Given the description of an element on the screen output the (x, y) to click on. 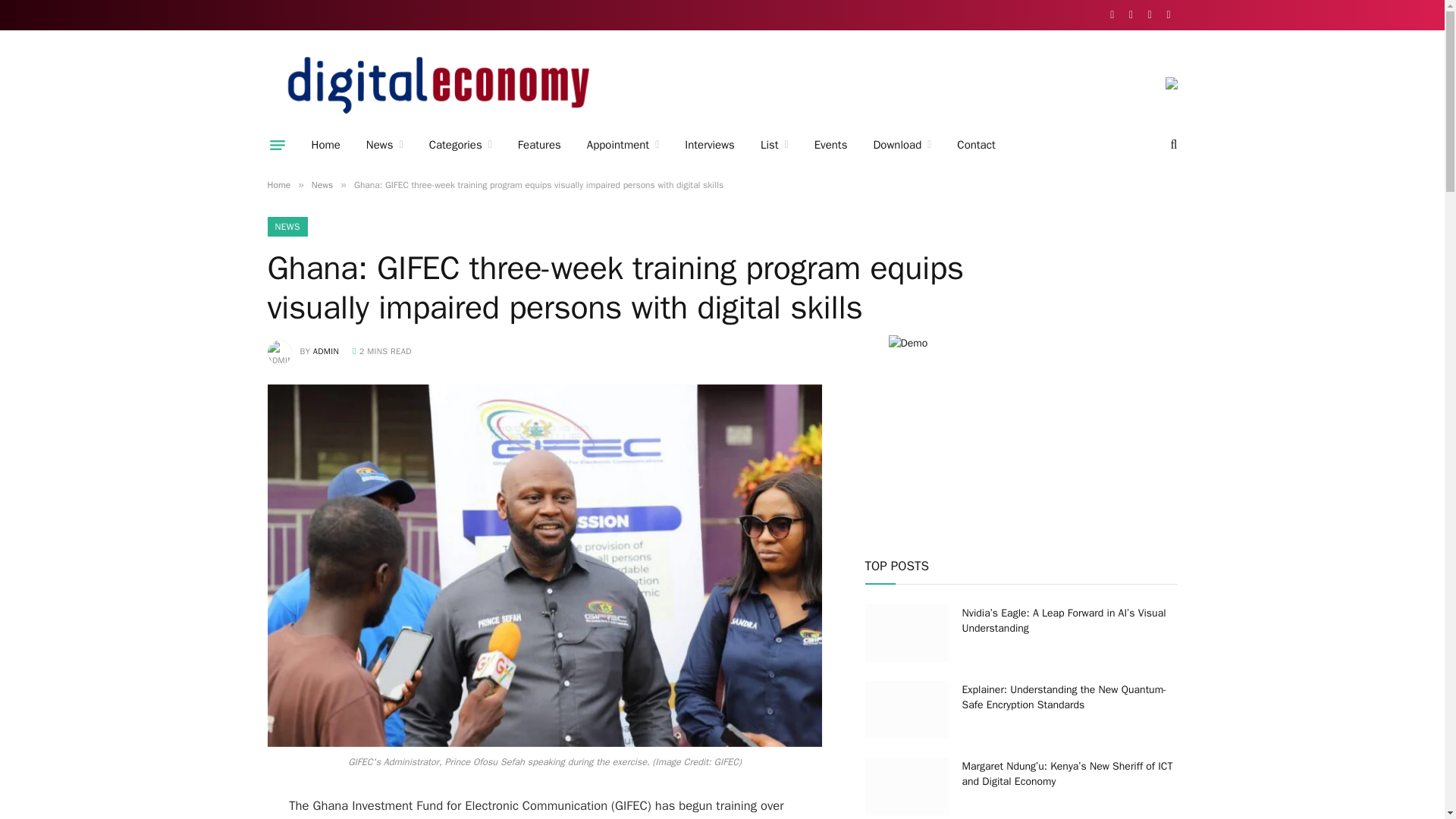
News (384, 144)
Digital Economy (438, 84)
Categories (460, 144)
Home (325, 144)
